Given the description of an element on the screen output the (x, y) to click on. 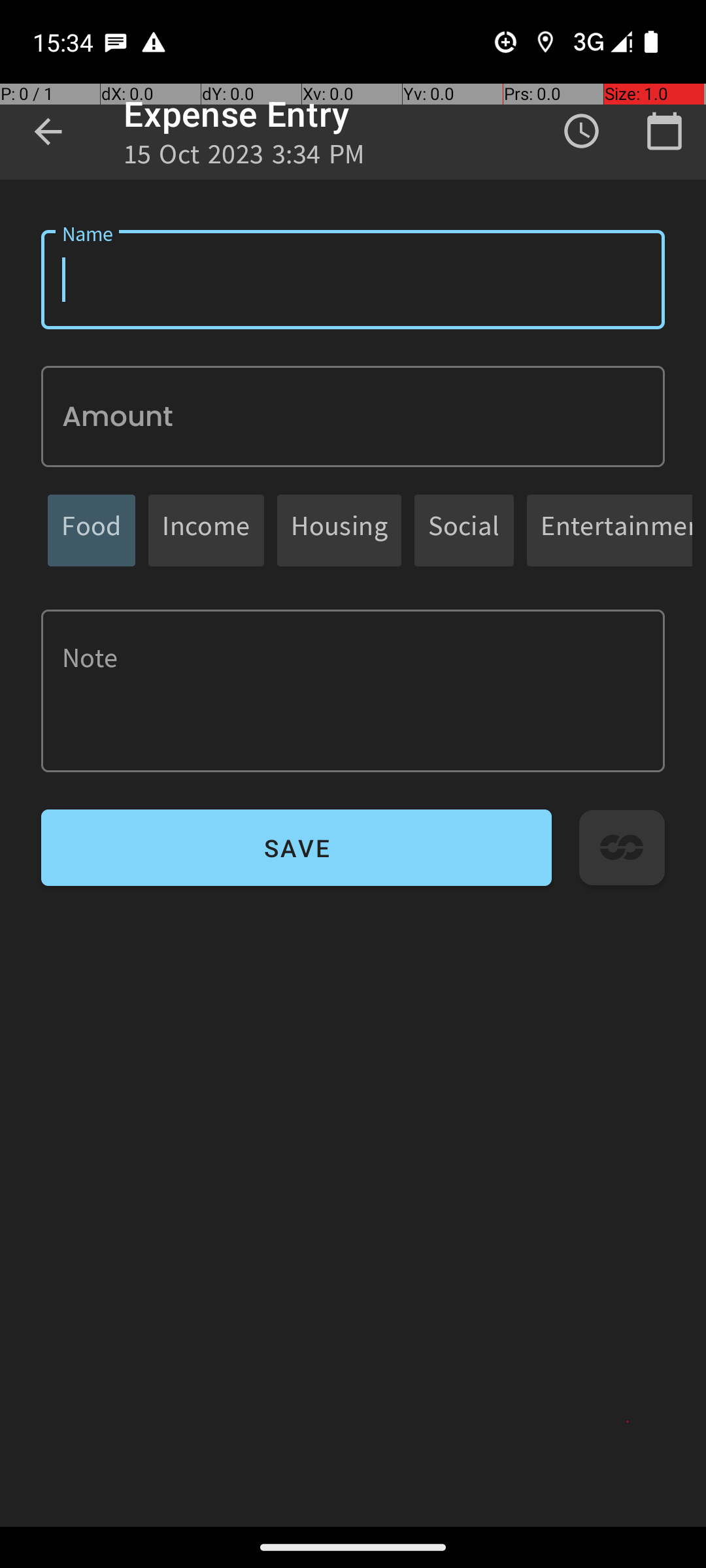
Name Element type: android.widget.EditText (352, 279)
